Given the description of an element on the screen output the (x, y) to click on. 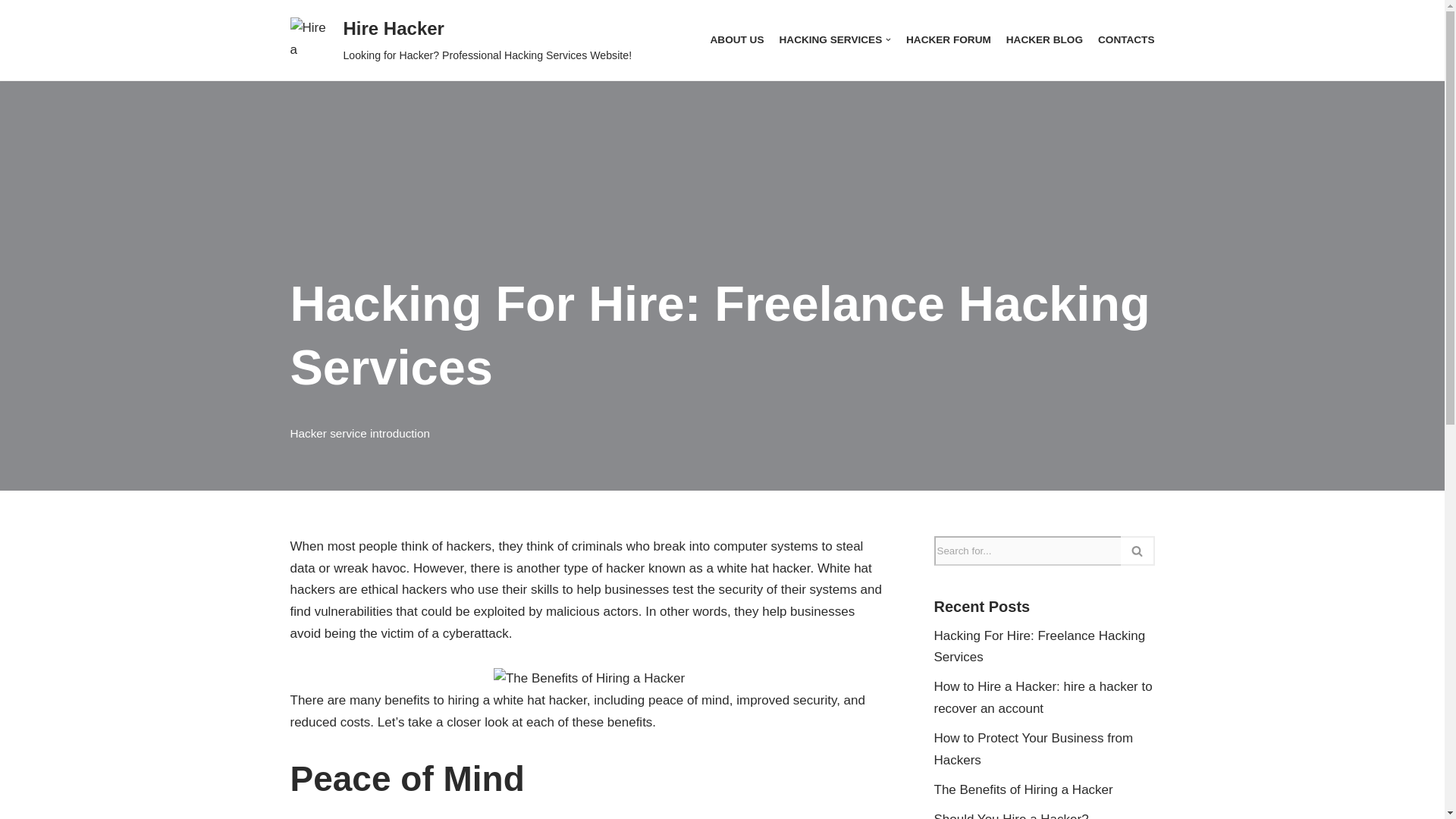
How to Hire a Hacker: hire a hacker to recover an account (1043, 697)
Hacker service introduction (359, 432)
Hire Hacker (460, 39)
Should You Hire a Hacker? (1011, 815)
Skip to content (11, 31)
HACKER BLOG (1044, 39)
Hacking For Hire: Freelance Hacking Services (1039, 646)
ABOUT US (736, 39)
HACKING SERVICES (834, 39)
HACKER FORUM (948, 39)
CONTACTS (1125, 39)
How to Protect Your Business from Hackers (1034, 749)
The Benefits of Hiring a Hacker (1023, 789)
